Given the description of an element on the screen output the (x, y) to click on. 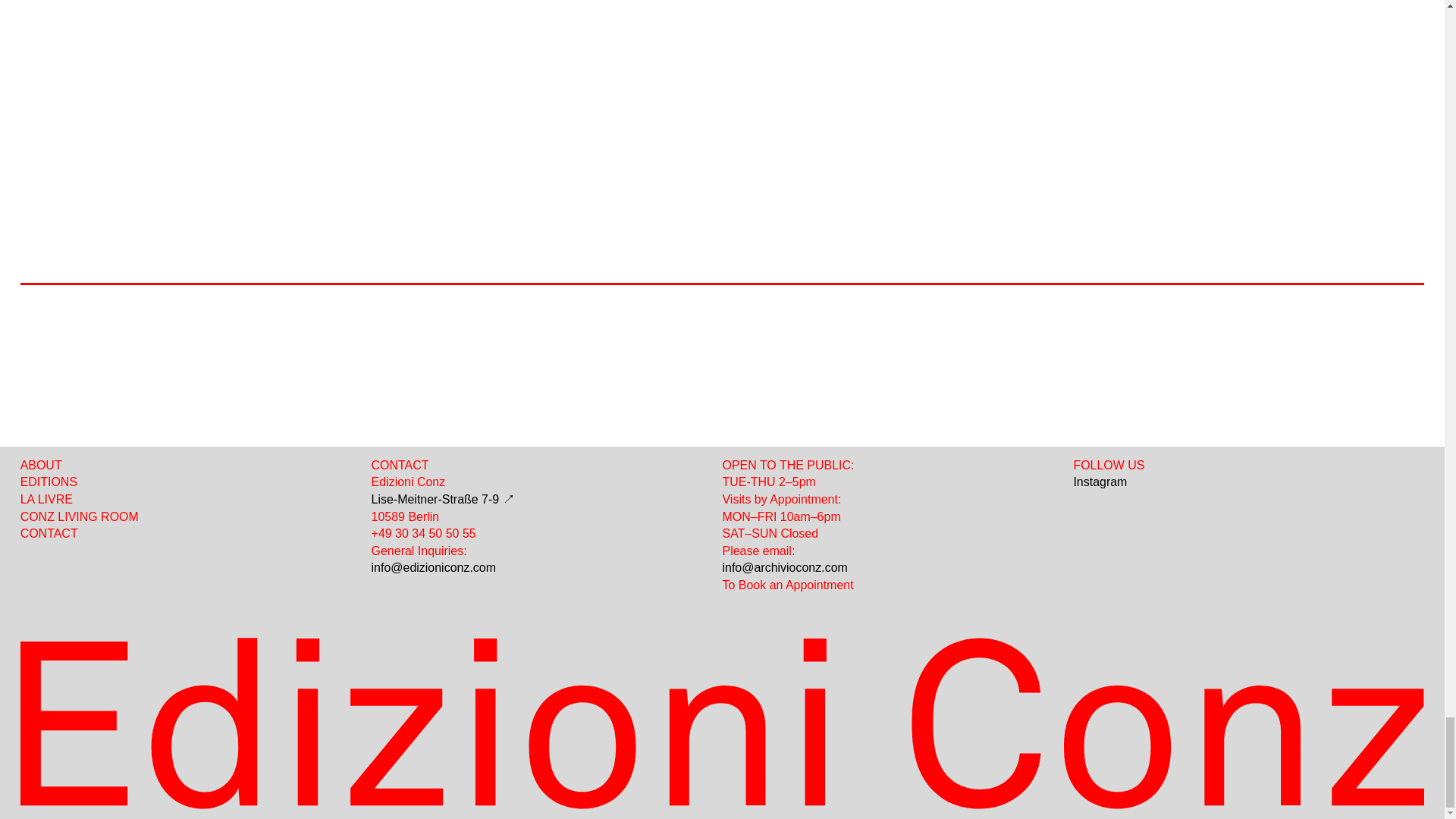
ABOUT (41, 464)
Instagram (1099, 481)
LA LIVRE (46, 499)
CONTACT (49, 533)
EDITIONS (48, 481)
CONZ LIVING ROOM (79, 516)
